Given the description of an element on the screen output the (x, y) to click on. 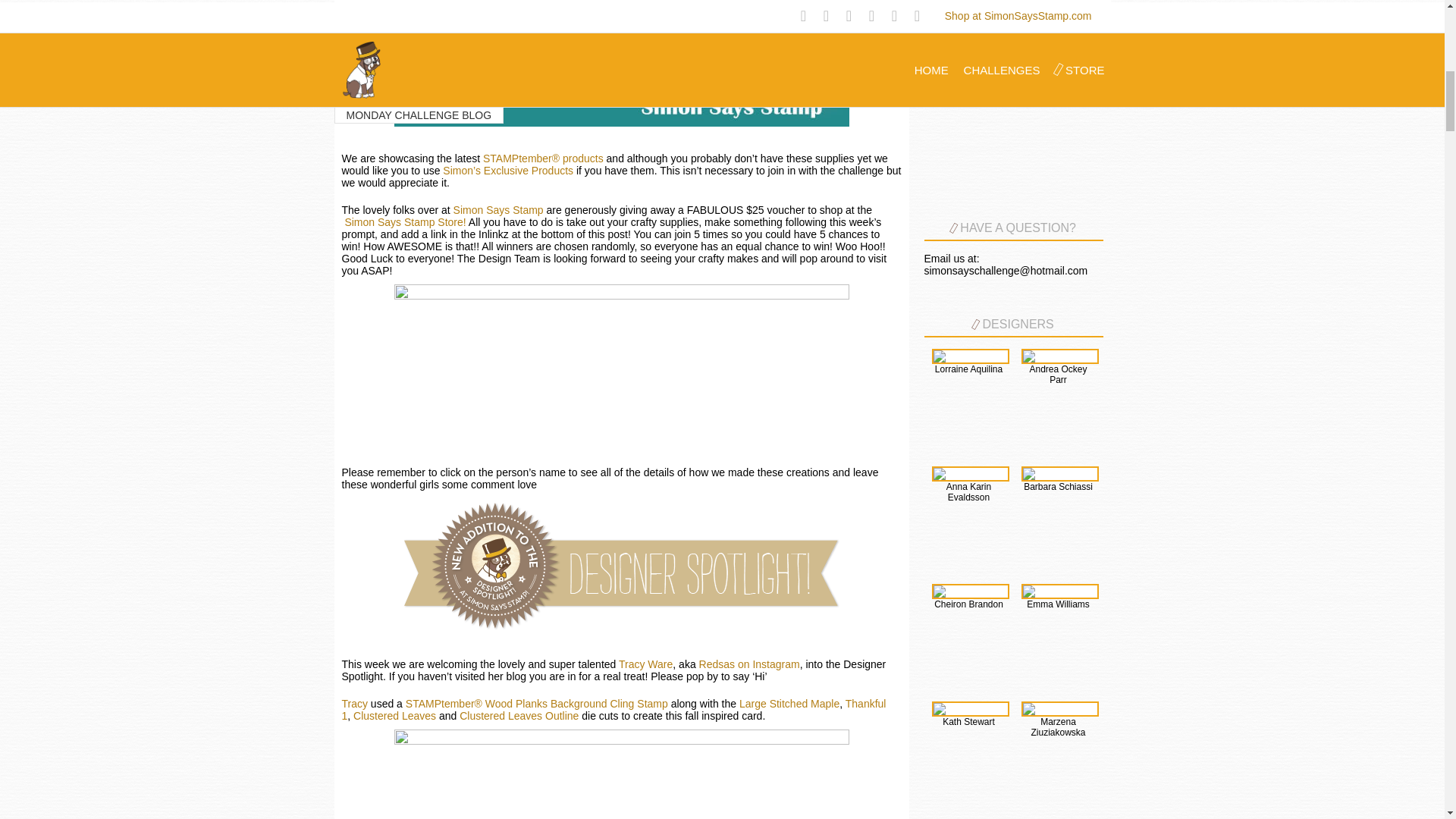
Large Stitched Maple (789, 703)
Tracy Ware (645, 664)
Clustered Leaves Outline (519, 715)
Simon Says Stamp Store!  (405, 222)
Redsas on Instagram (748, 664)
Clustered Leaves (394, 715)
Tracy (353, 703)
 Simon Says Stamp (496, 209)
Thankful 1 (612, 709)
Wood Planks Background Cling Stamp (576, 703)
